Given the description of an element on the screen output the (x, y) to click on. 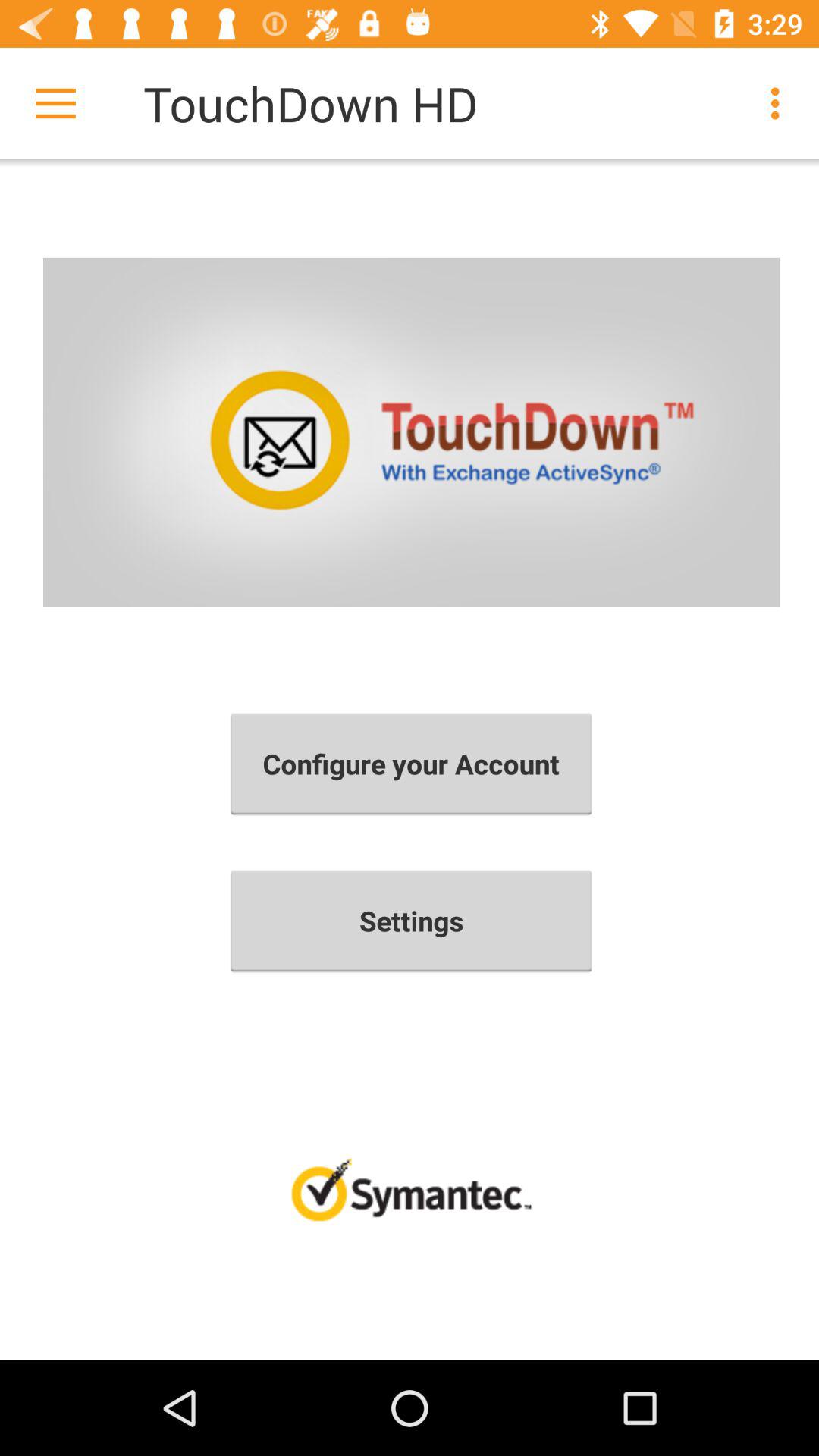
tap the settings item (410, 920)
